Given the description of an element on the screen output the (x, y) to click on. 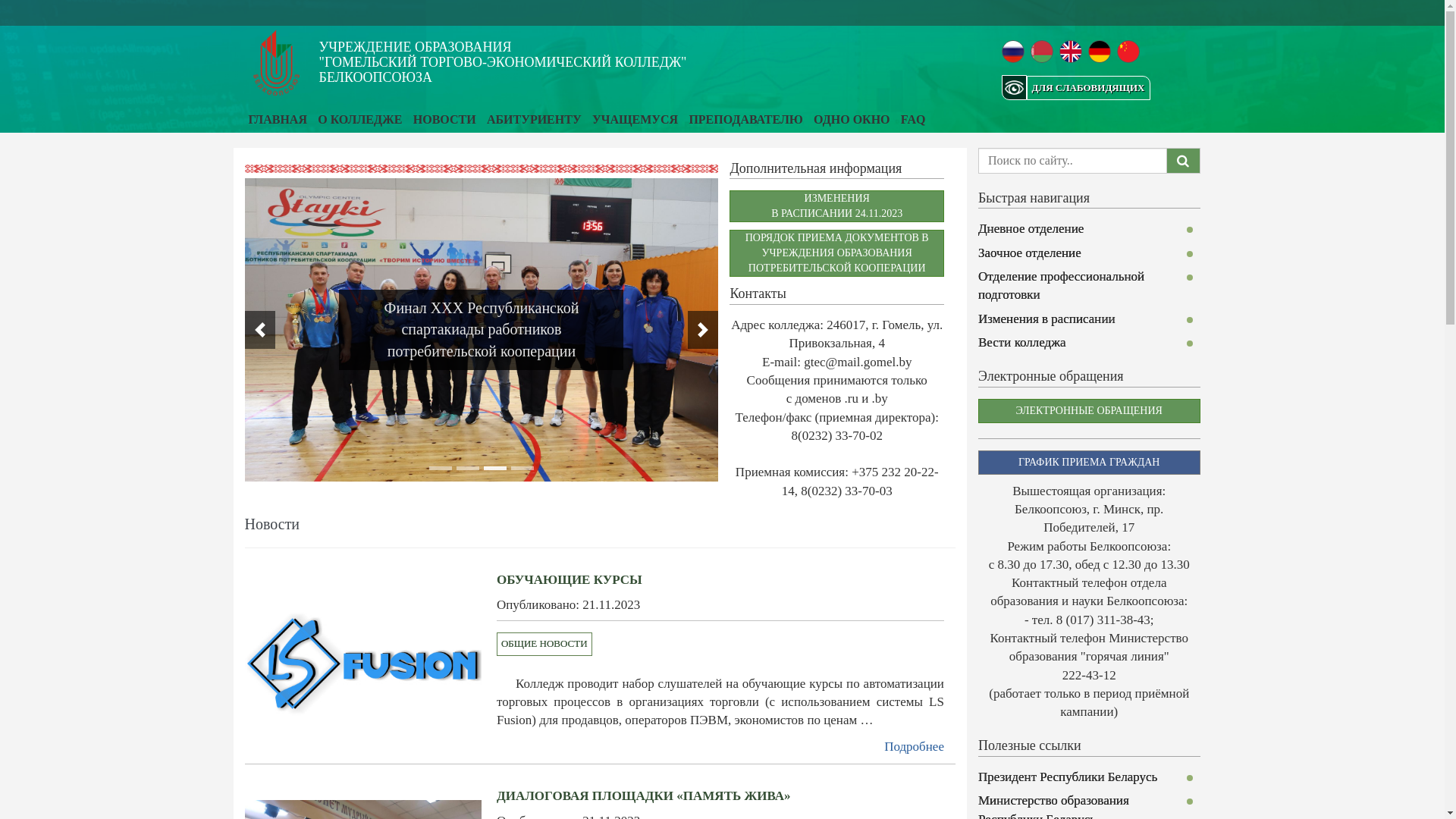
FAQ Element type: text (912, 119)
  Element type: text (722, 12)
